Given the description of an element on the screen output the (x, y) to click on. 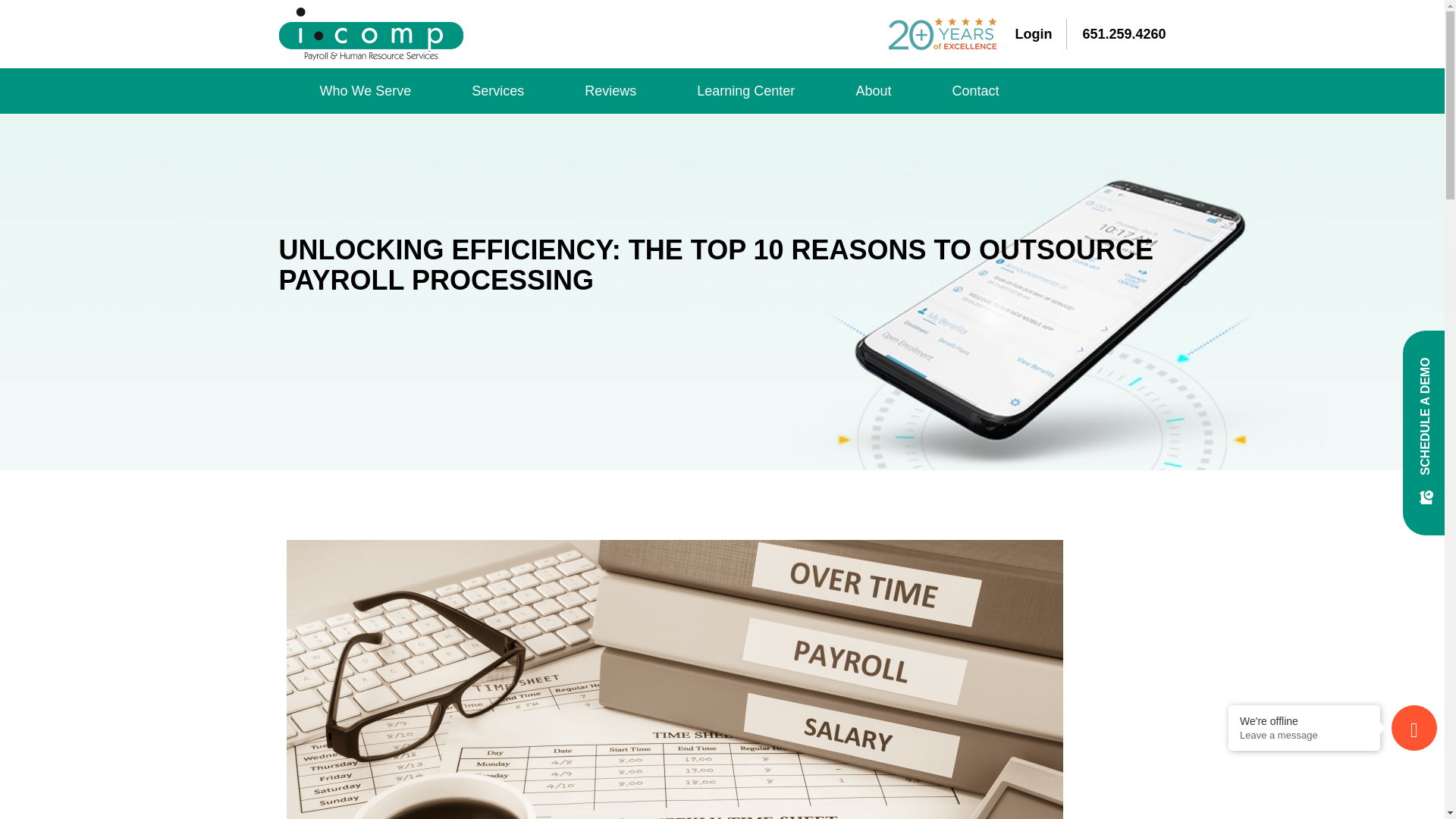
Login in Your Account (1040, 33)
651.259.4260 (1123, 33)
Login (1040, 33)
